Given the description of an element on the screen output the (x, y) to click on. 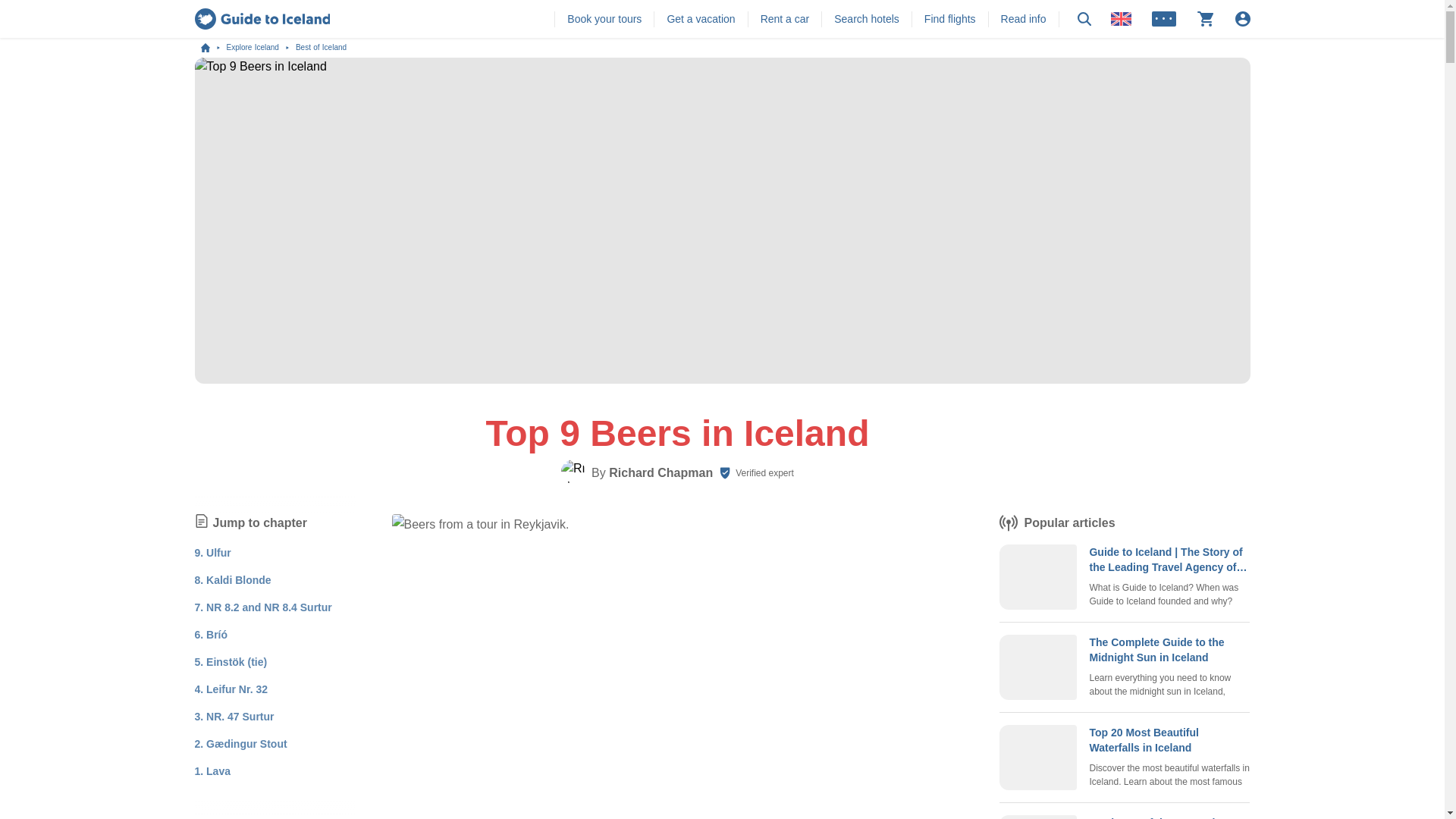
Best of Iceland (320, 47)
Guide to Iceland (212, 47)
8. Kaldi Blonde (231, 580)
1. Lava (211, 770)
Best of Iceland (320, 47)
Search hotels (866, 18)
Richard Chapman (660, 473)
Book your tours (604, 18)
Explore Iceland (260, 47)
9. Ulfur (211, 552)
